Given the description of an element on the screen output the (x, y) to click on. 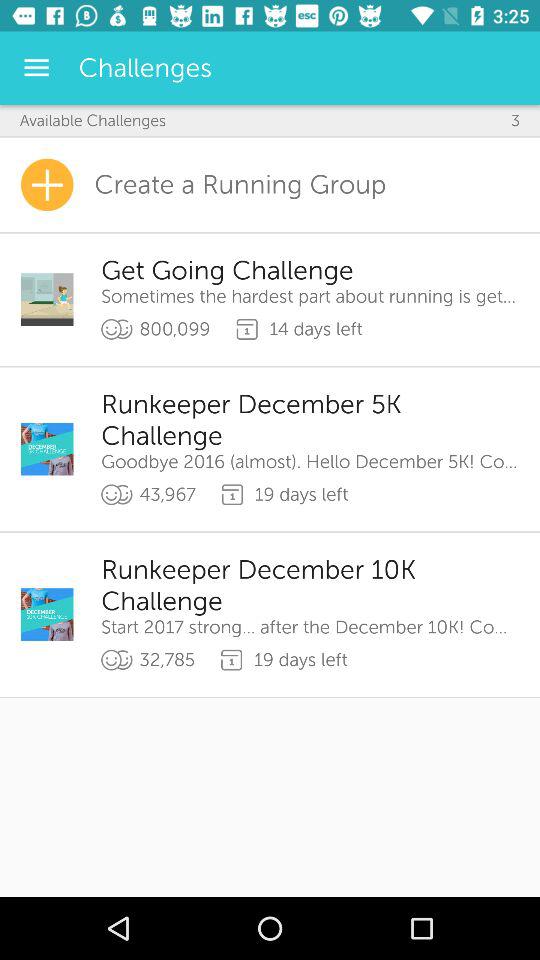
open icon to the left of challenges (36, 68)
